Given the description of an element on the screen output the (x, y) to click on. 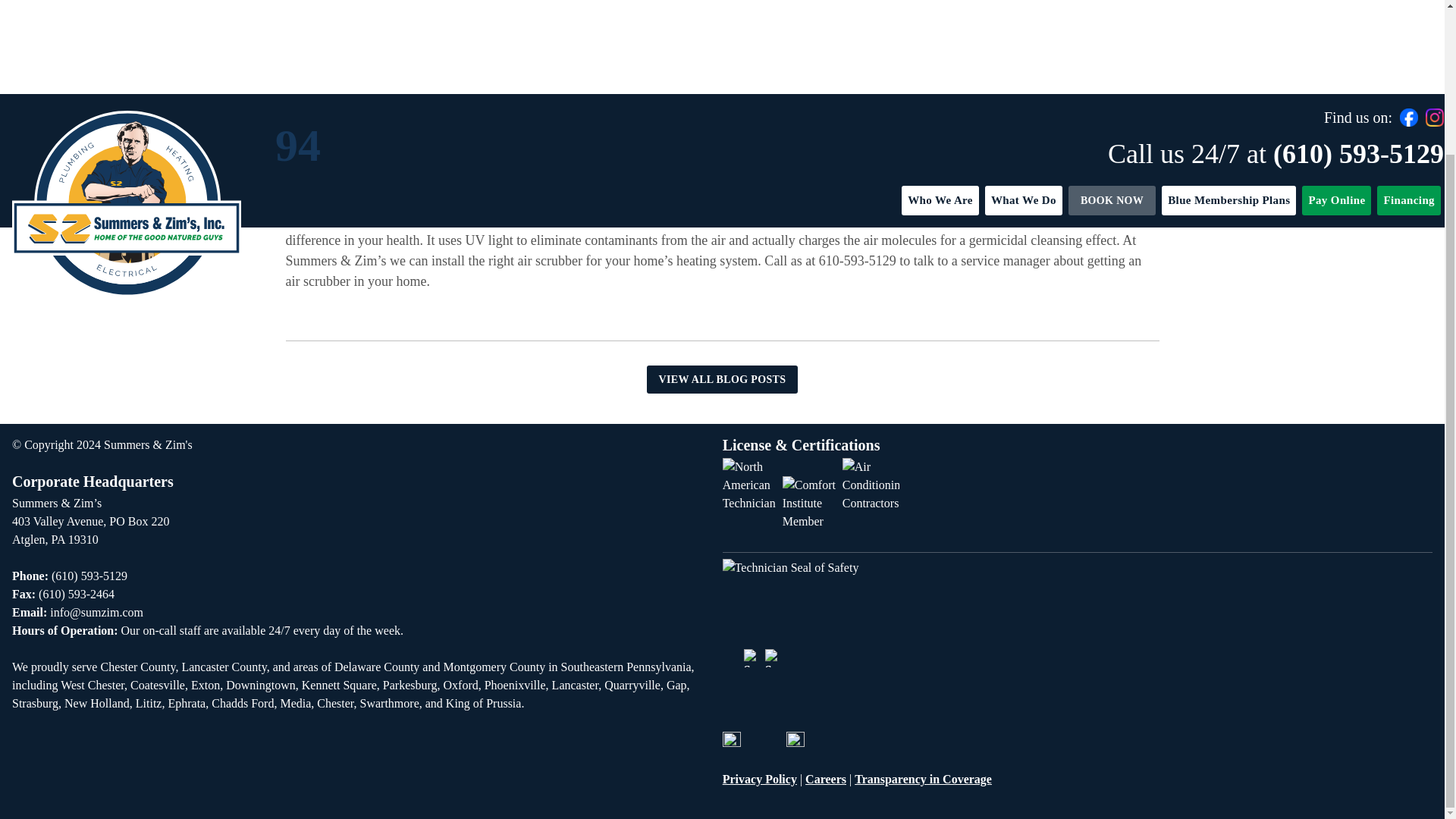
Pay Online (1336, 20)
BOOK NOW (1112, 20)
Careers (825, 779)
Who We Are (939, 20)
Transparency in Coverage (922, 779)
Blue Membership Plans (1228, 20)
Privacy Policy (759, 779)
What We Do (1023, 20)
VIEW ALL BLOG POSTS (721, 379)
Financing (1409, 20)
